Given the description of an element on the screen output the (x, y) to click on. 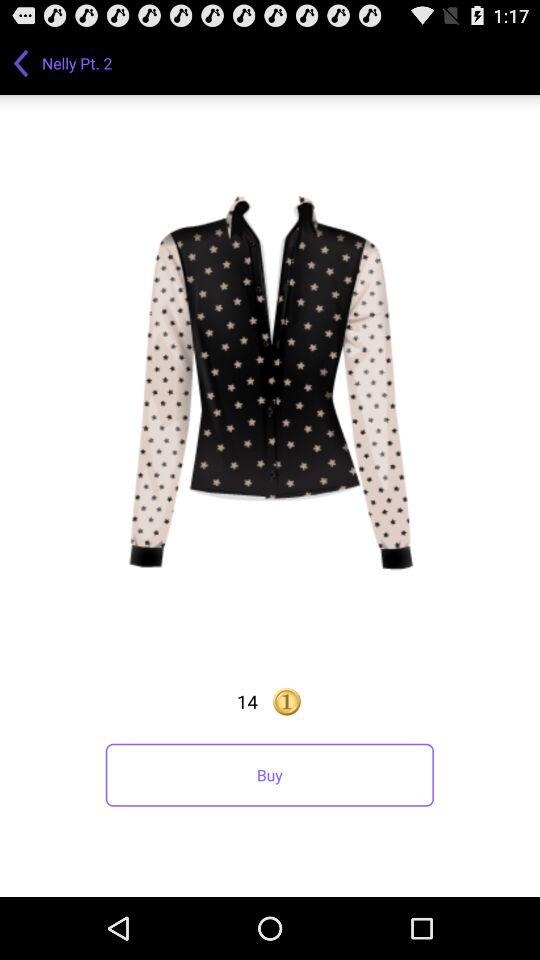
press nelly pt. 2  app (79, 62)
